Given the description of an element on the screen output the (x, y) to click on. 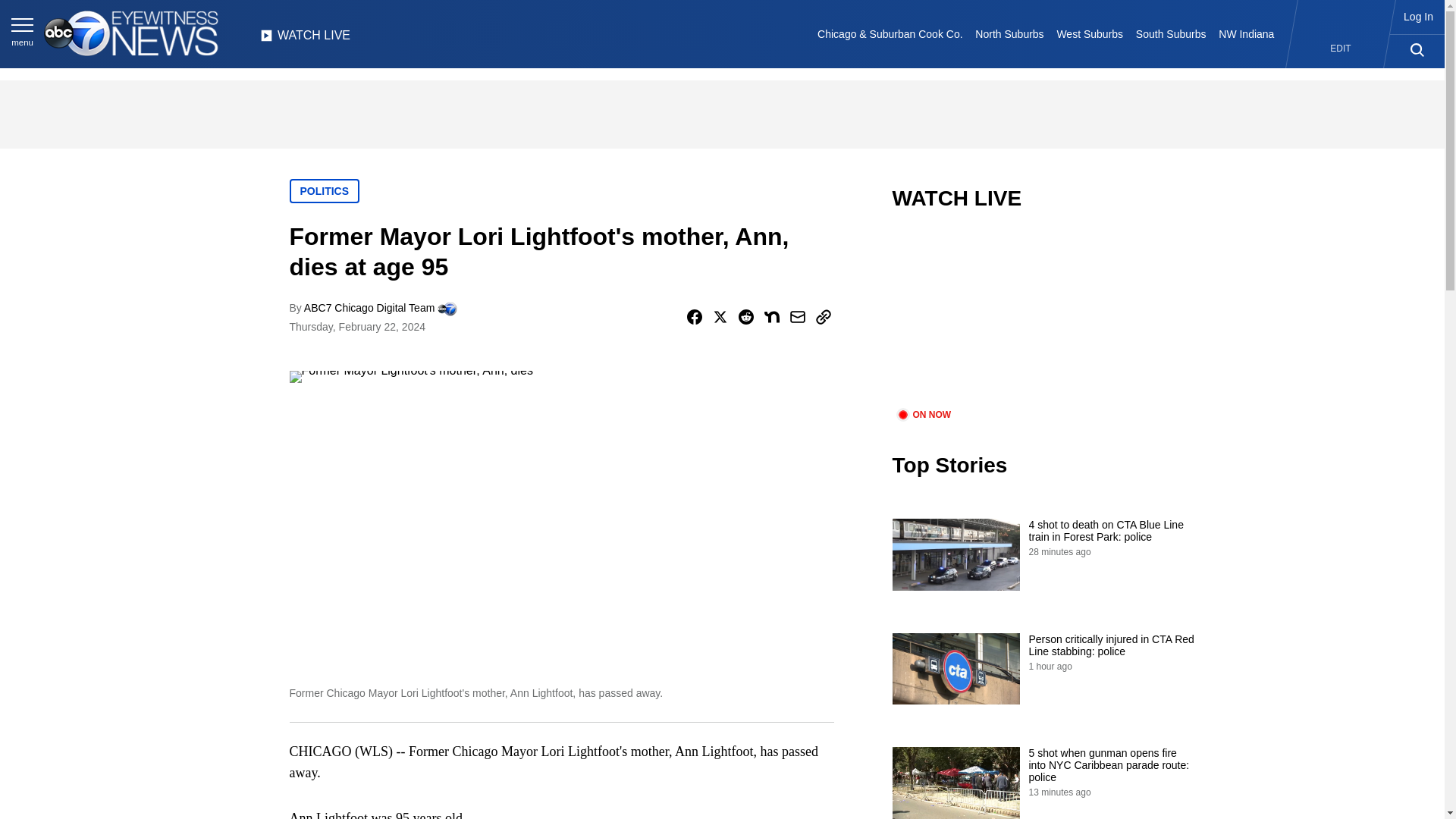
NW Indiana (1246, 33)
South Suburbs (1170, 33)
West Suburbs (1089, 33)
video.title (1043, 318)
North Suburbs (1009, 33)
WATCH LIVE (305, 39)
EDIT (1340, 48)
